Given the description of an element on the screen output the (x, y) to click on. 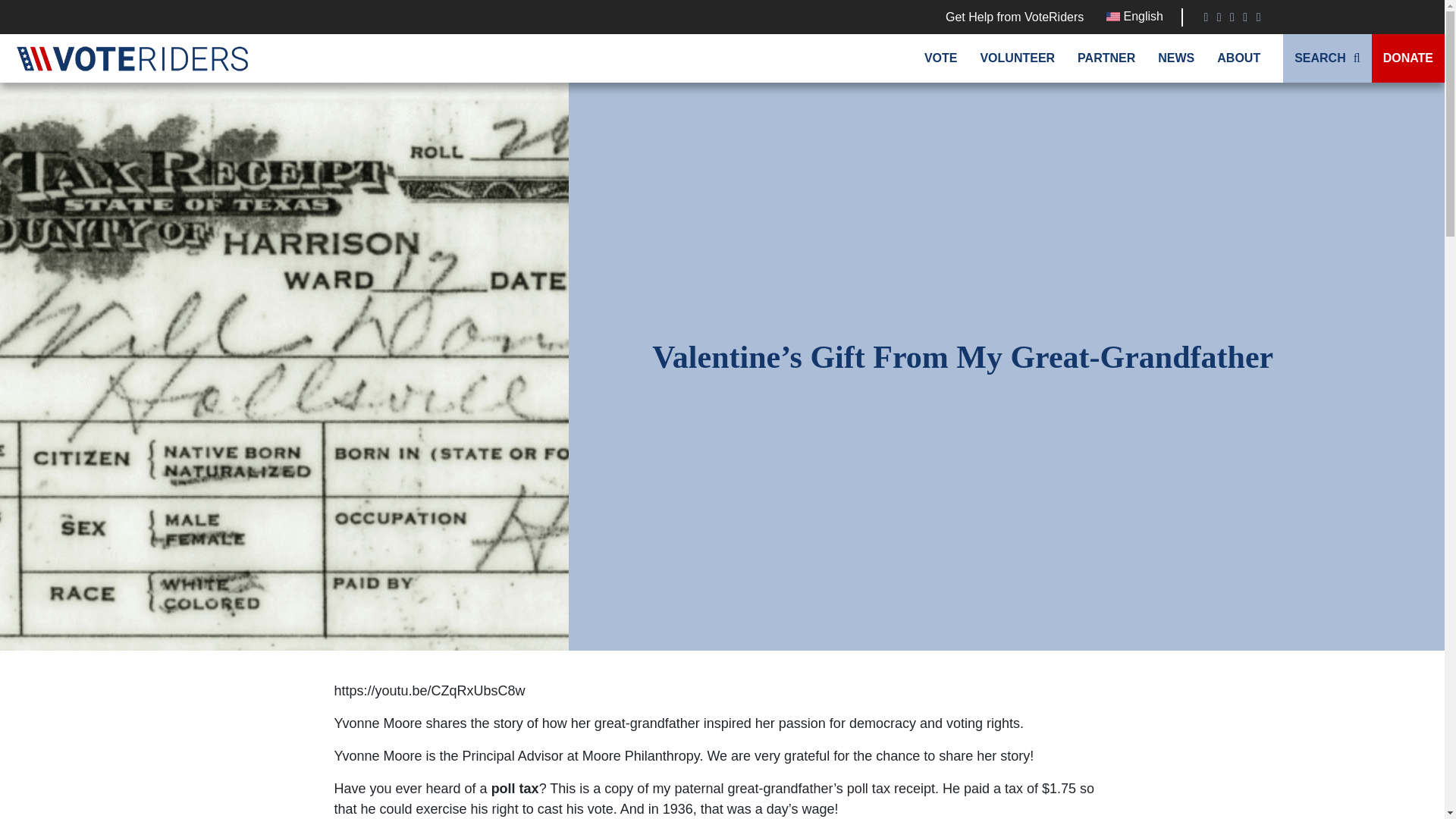
NEWS (1176, 58)
ABOUT (1238, 58)
VOLUNTEER (1016, 58)
SEARCH (1326, 58)
English (1134, 16)
English (1134, 16)
VOTE (940, 58)
PARTNER (1106, 58)
Get Help from VoteRiders (1013, 16)
